Given the description of an element on the screen output the (x, y) to click on. 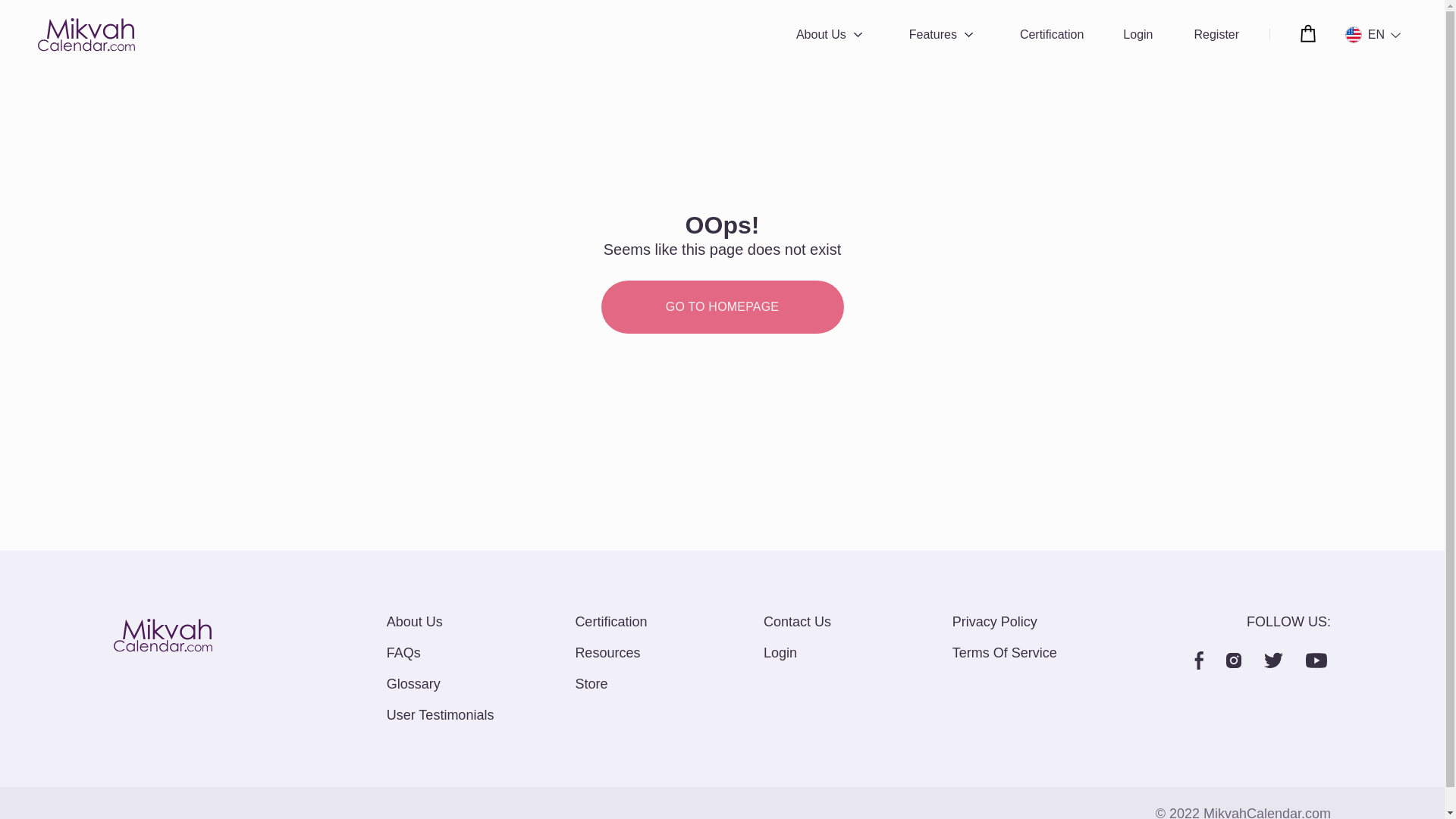
Mikvah calendar (86, 34)
Register (1216, 34)
Features (932, 34)
Mikvah calendar (162, 638)
About Us (820, 34)
Certification (1051, 34)
Login (1137, 34)
EN (1368, 34)
